Given the description of an element on the screen output the (x, y) to click on. 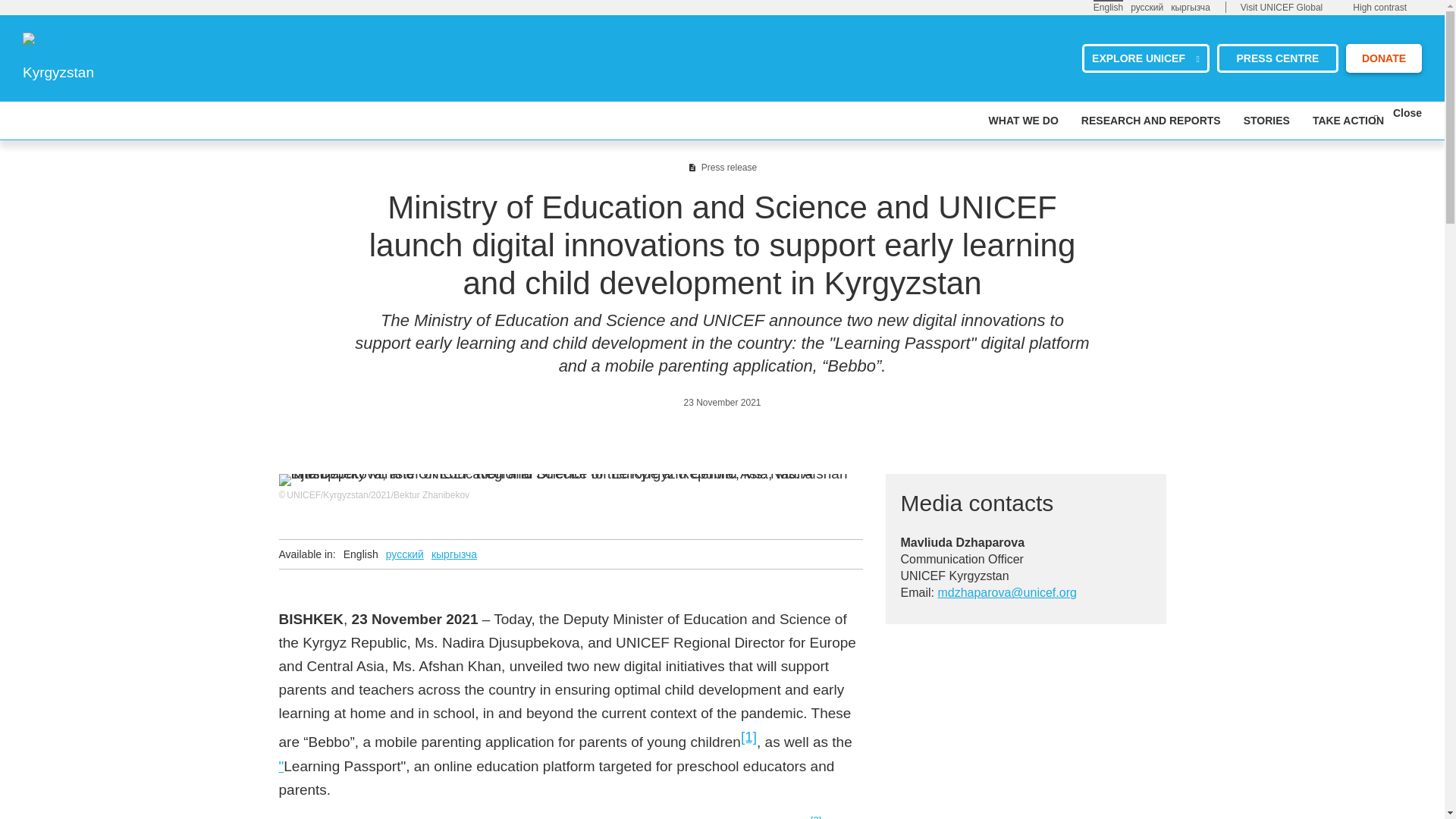
High contrast (1379, 7)
UNICEF (64, 43)
DONATE (1383, 58)
Visit UNICEF Global (1281, 7)
STORIES (1266, 120)
EXPLORE UNICEF (1145, 58)
English (1107, 6)
TAKE ACTION (1348, 120)
WHAT WE DO (1023, 120)
